Given the description of an element on the screen output the (x, y) to click on. 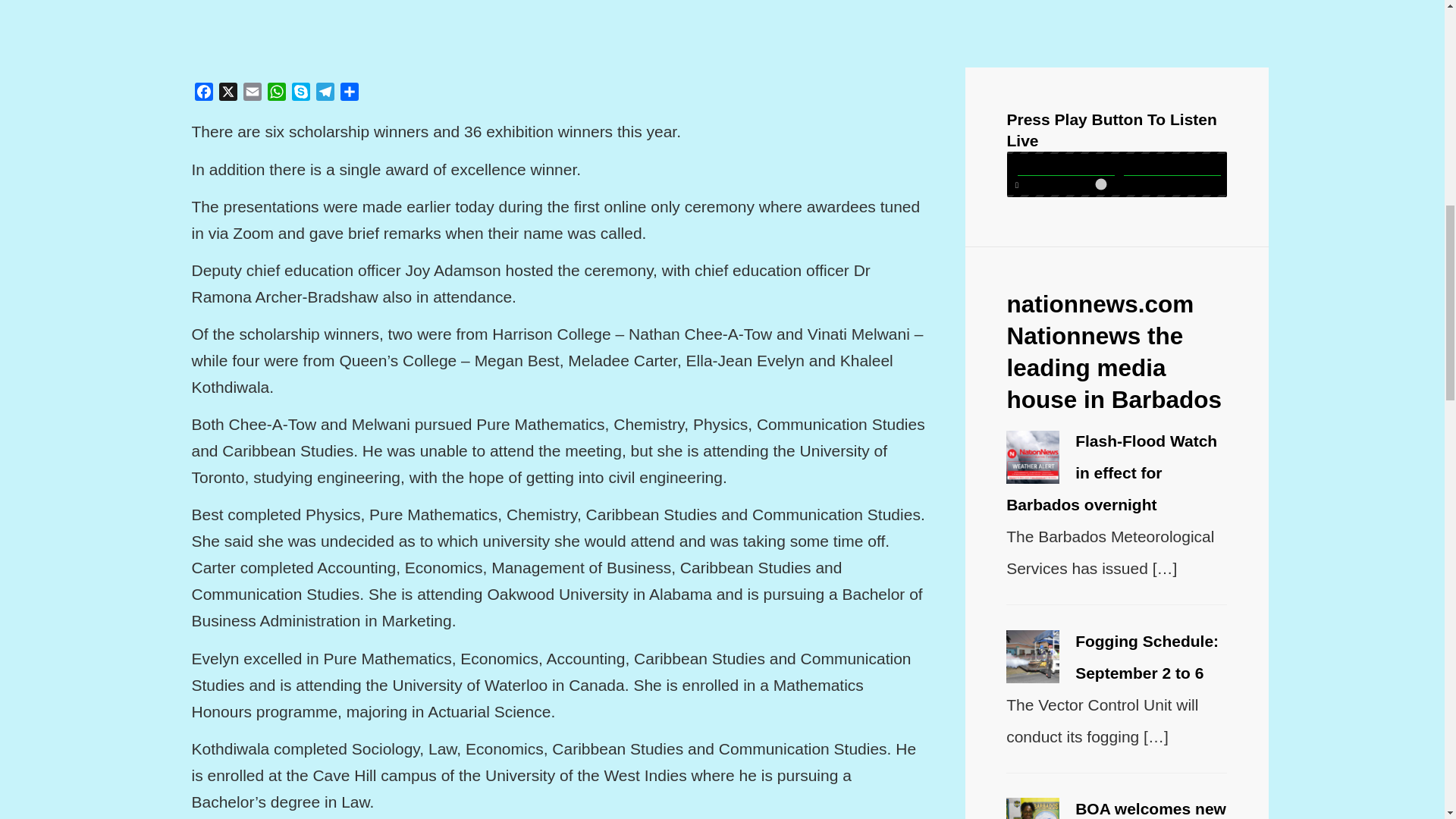
Facebook (202, 94)
WhatsApp (275, 94)
X (227, 94)
Skype (300, 94)
Email (251, 94)
WhatsApp (275, 94)
Fogging Schedule: September 2 to 6 (1146, 656)
nationnews.com (1100, 303)
Telegram (324, 94)
Flash-Flood Watch in effect for Barbados overnight (1111, 472)
